Given the description of an element on the screen output the (x, y) to click on. 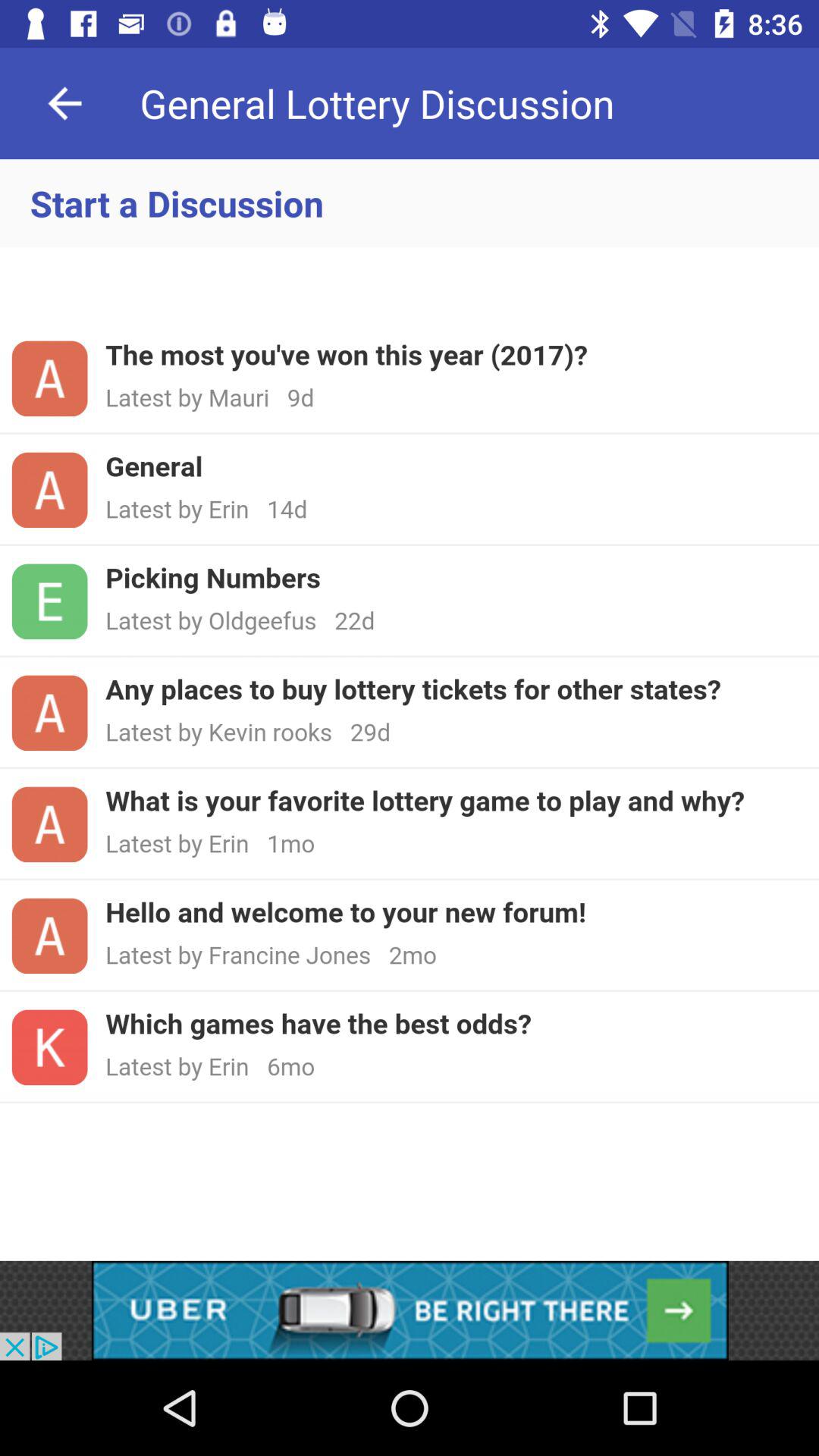
go to advertisement (409, 1310)
